Given the description of an element on the screen output the (x, y) to click on. 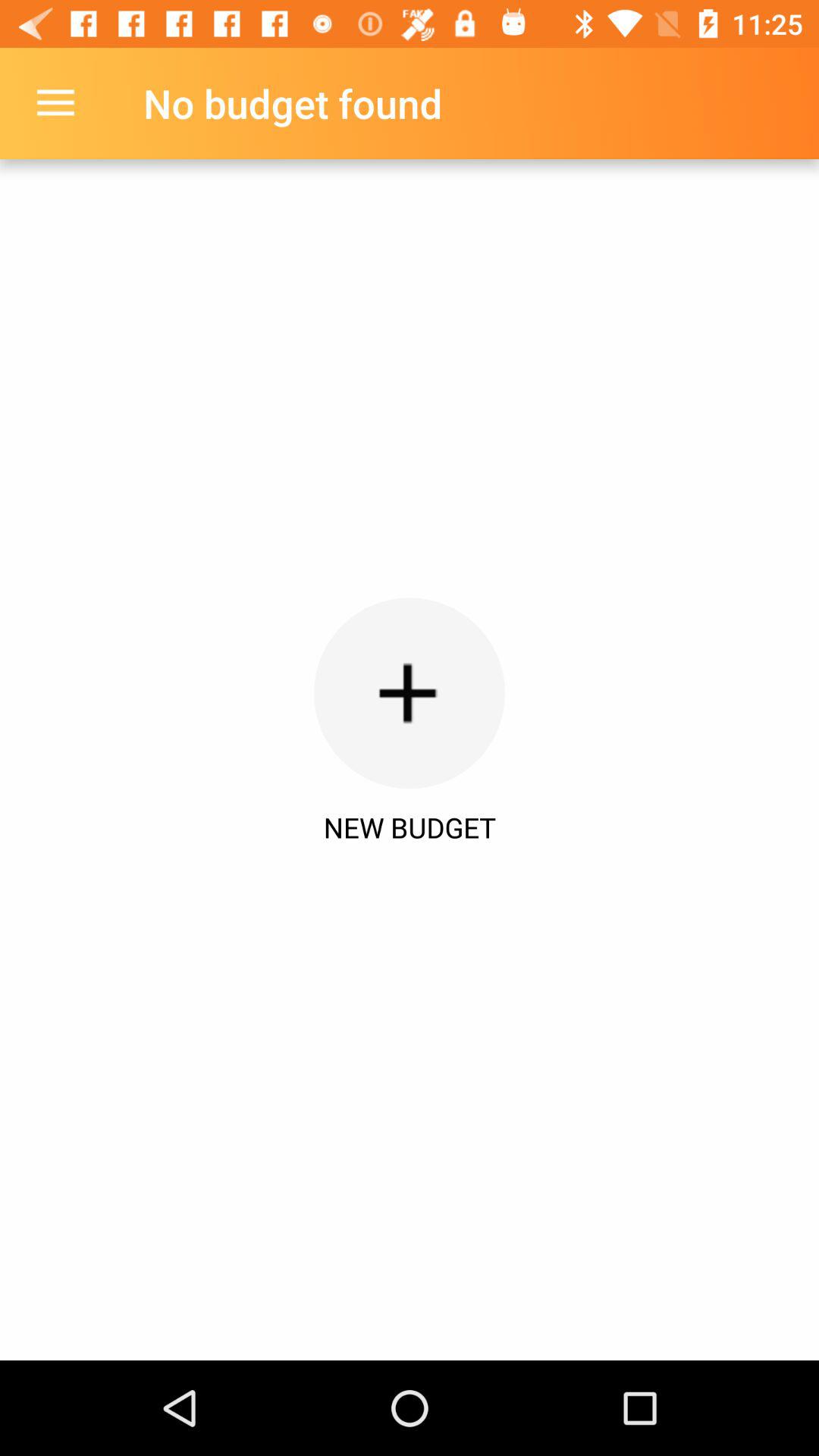
press the icon at the top left corner (55, 103)
